Given the description of an element on the screen output the (x, y) to click on. 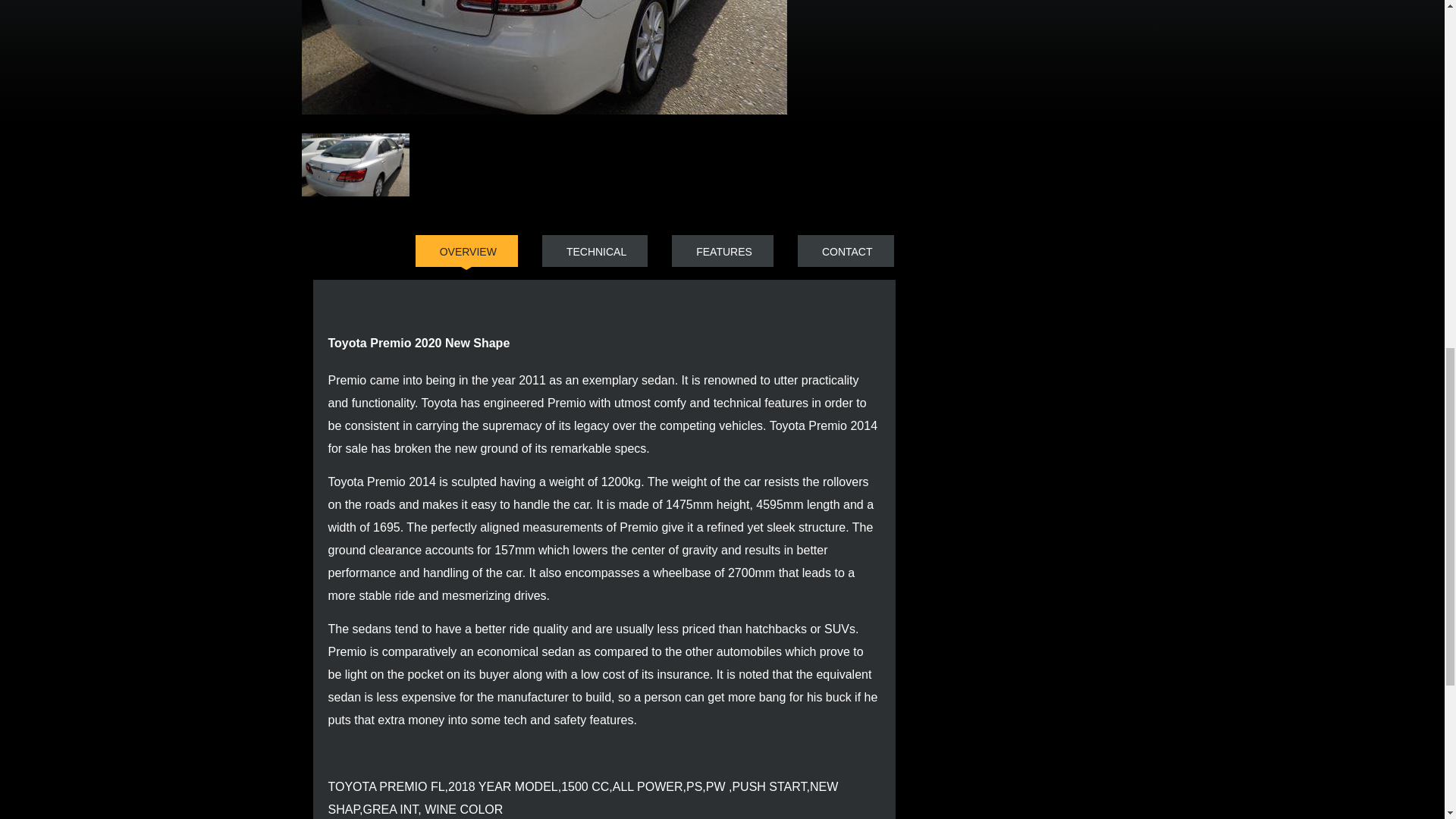
TECHNICAL (594, 250)
CONTACT (845, 250)
OVERVIEW (466, 250)
FEATURES (722, 250)
